Given the description of an element on the screen output the (x, y) to click on. 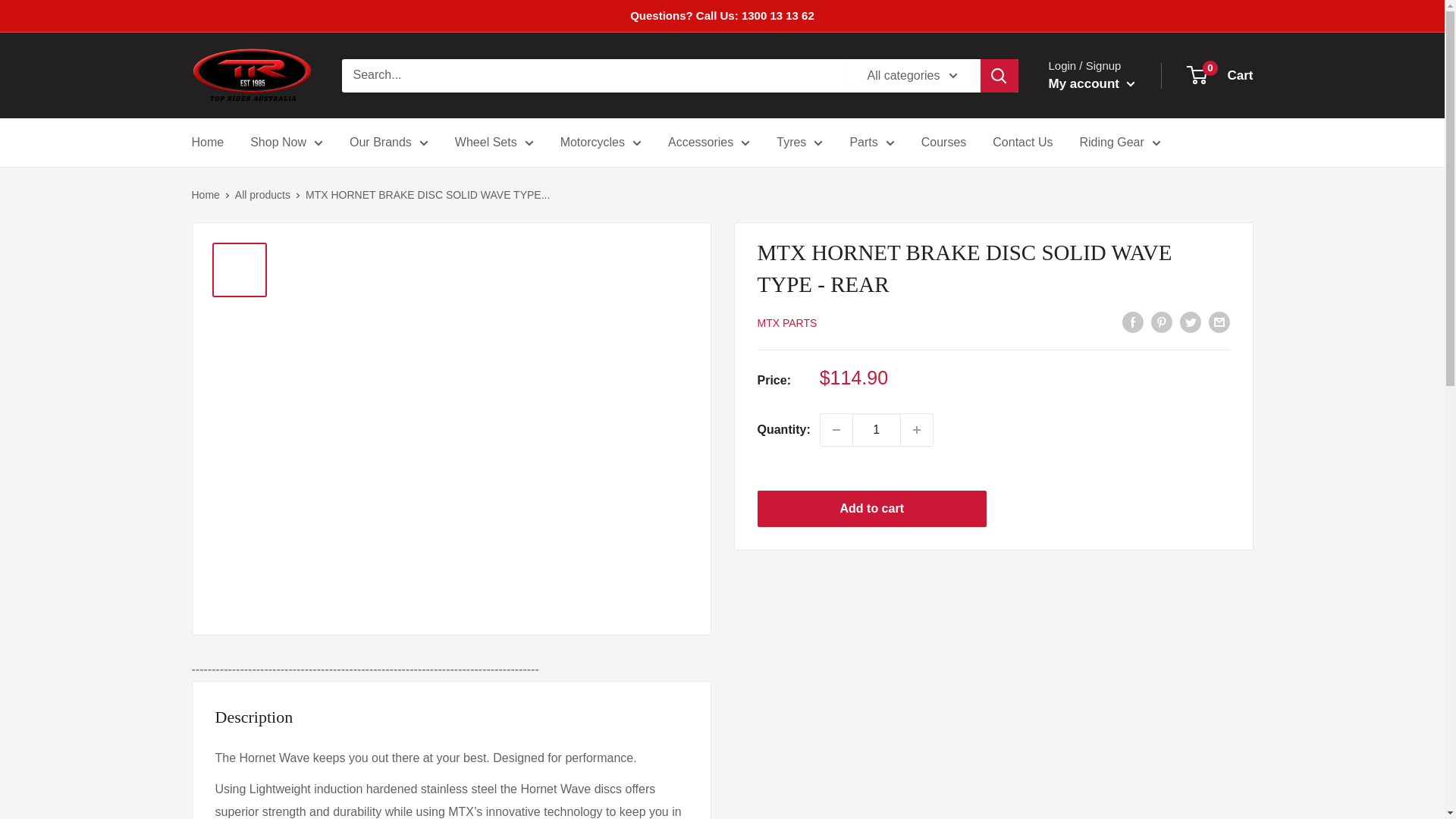
Increase quantity by 1 (917, 429)
Questions? Call Us: 1300 13 13 62 (721, 15)
1 (876, 429)
Decrease quantity by 1 (836, 429)
